Given the description of an element on the screen output the (x, y) to click on. 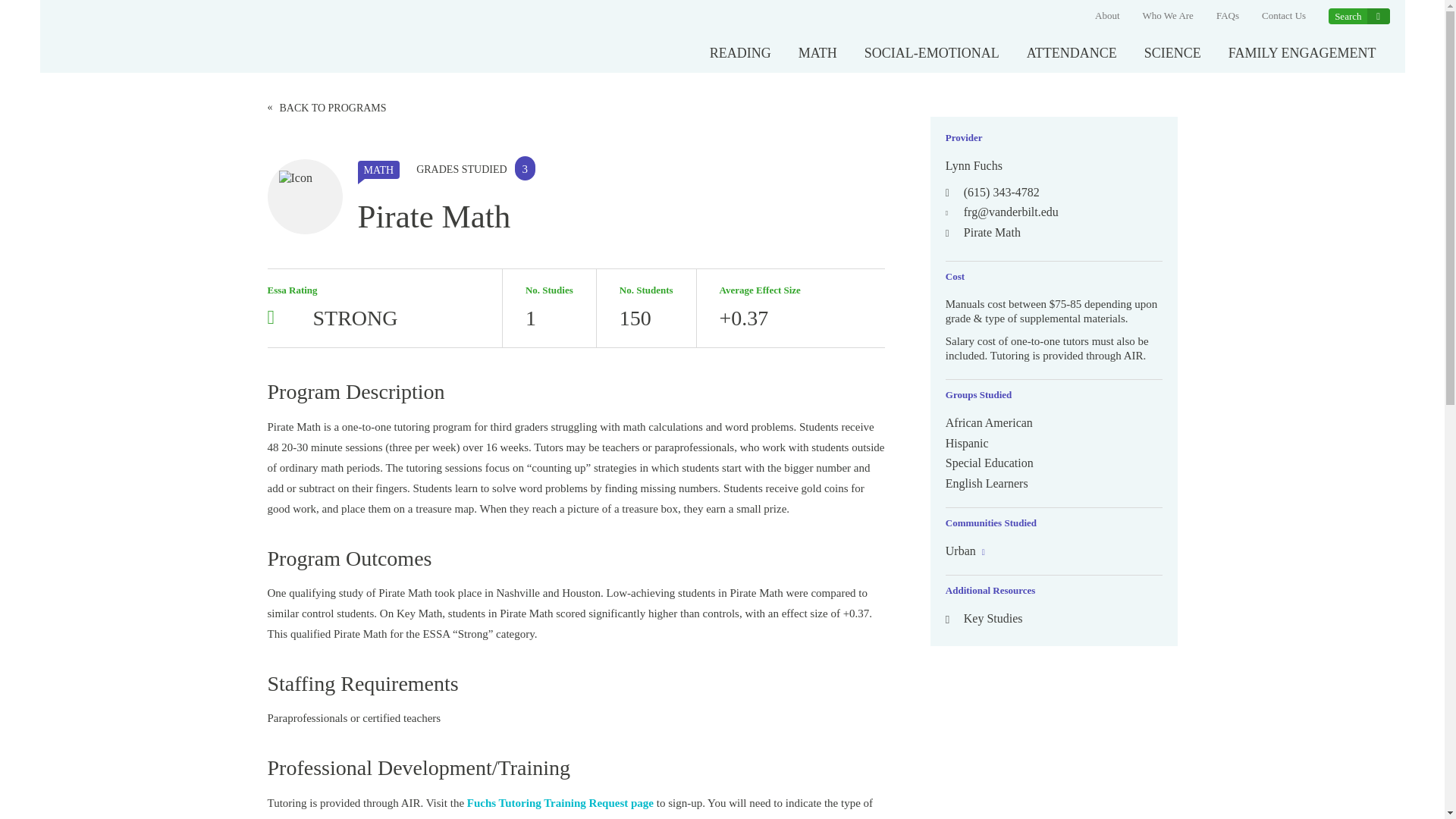
Who We Are (1167, 15)
SOCIAL-EMOTIONAL (931, 53)
About (1106, 15)
FAMILY ENGAGEMENT (1302, 53)
FAQs (1227, 15)
SCIENCE (1172, 53)
Pirate Math (982, 232)
Key Studies (983, 618)
Contact Us (1284, 15)
Fuchs Tutoring Training Request page (560, 803)
